Given the description of an element on the screen output the (x, y) to click on. 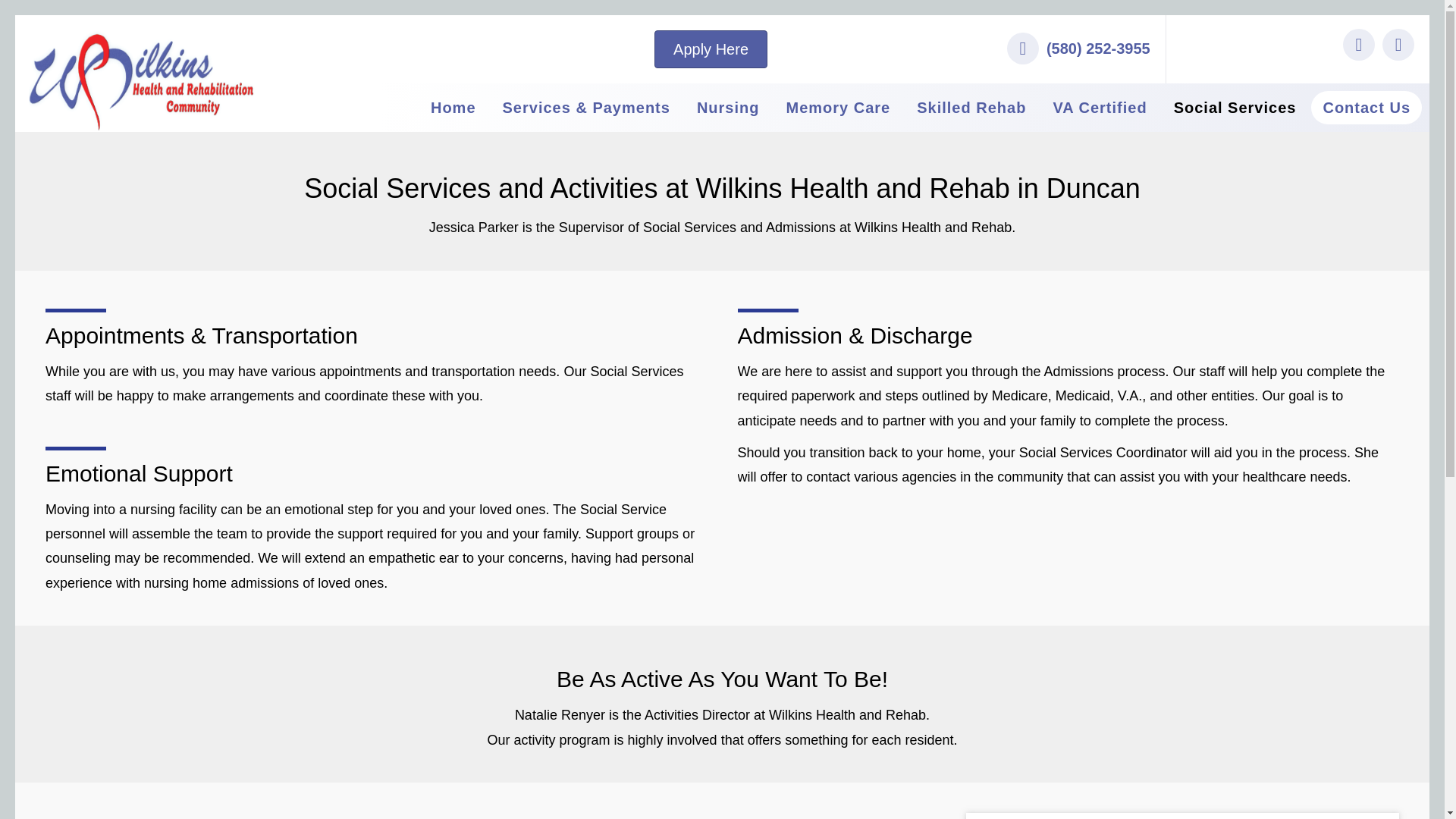
VA Certified (1099, 107)
Memory Care (837, 107)
Social Services (1234, 107)
Home (453, 107)
Skilled Rehab (970, 107)
Nursing (728, 107)
Contact Us (1366, 107)
Apply Here (710, 48)
